Given the description of an element on the screen output the (x, y) to click on. 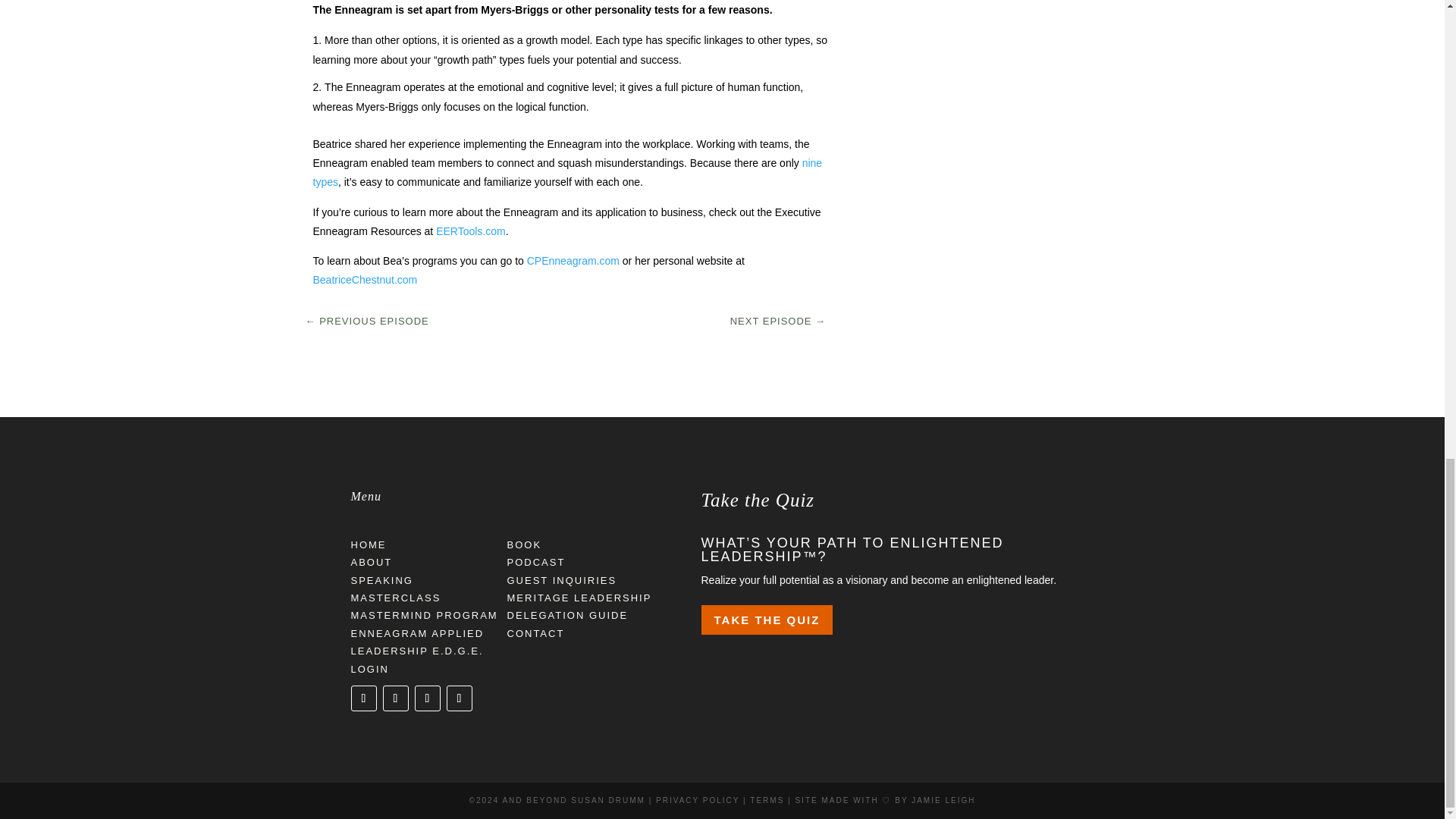
BeatriceChestnut.com (364, 279)
HOME (367, 544)
Follow on Youtube (458, 698)
nine types (567, 172)
CPEnneagram.com (573, 260)
Follow on LinkedIn (426, 698)
Follow on Facebook (394, 698)
EERTools.com (470, 231)
Follow on X (362, 698)
